Given the description of an element on the screen output the (x, y) to click on. 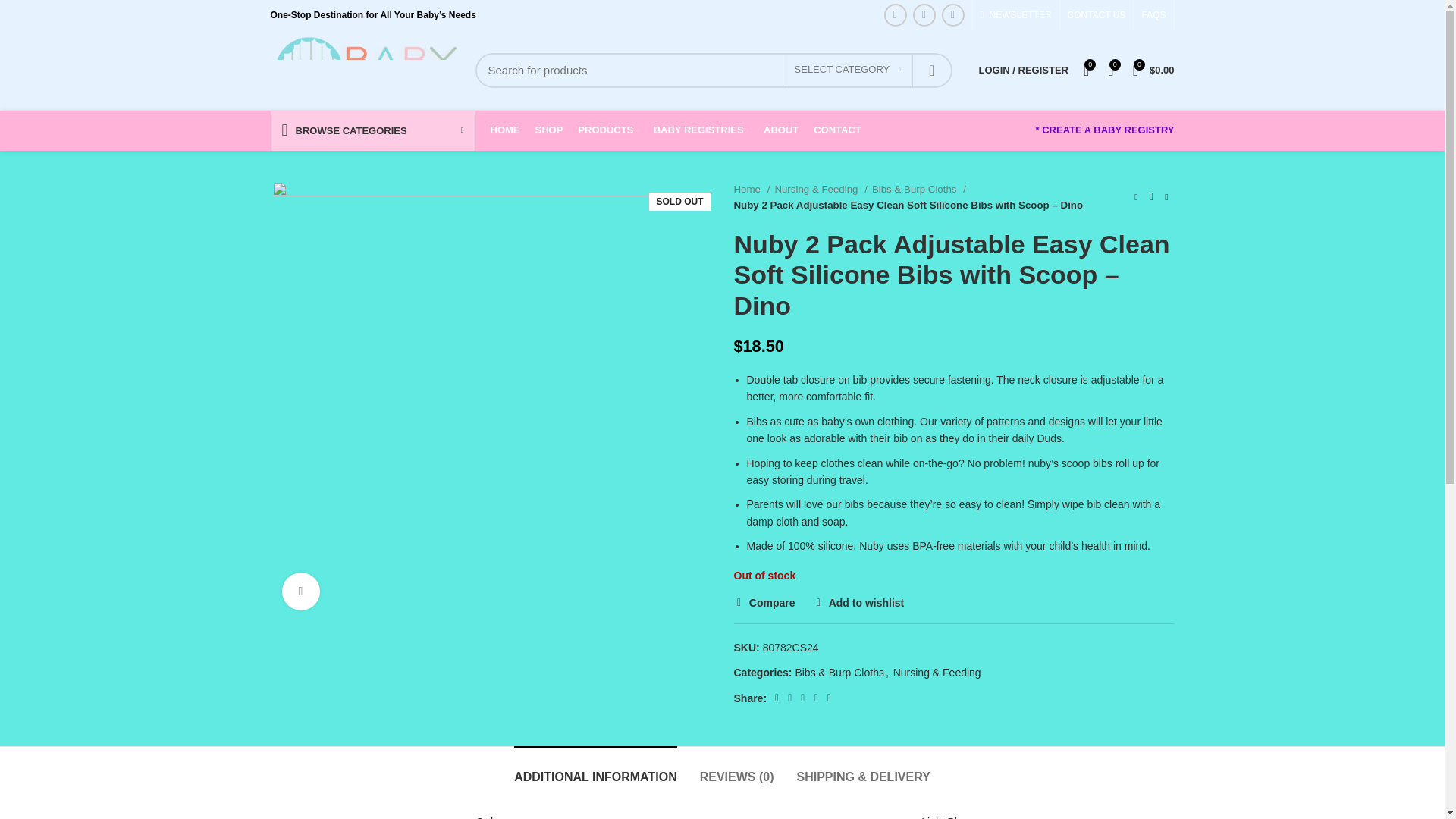
FAQS (1153, 15)
Search for products (713, 70)
Shopping cart (1153, 69)
SELECT CATEGORY (847, 70)
SELECT CATEGORY (847, 70)
NEWSLETTER (1015, 15)
CONTACT US (1096, 15)
My account (1023, 69)
